Given the description of an element on the screen output the (x, y) to click on. 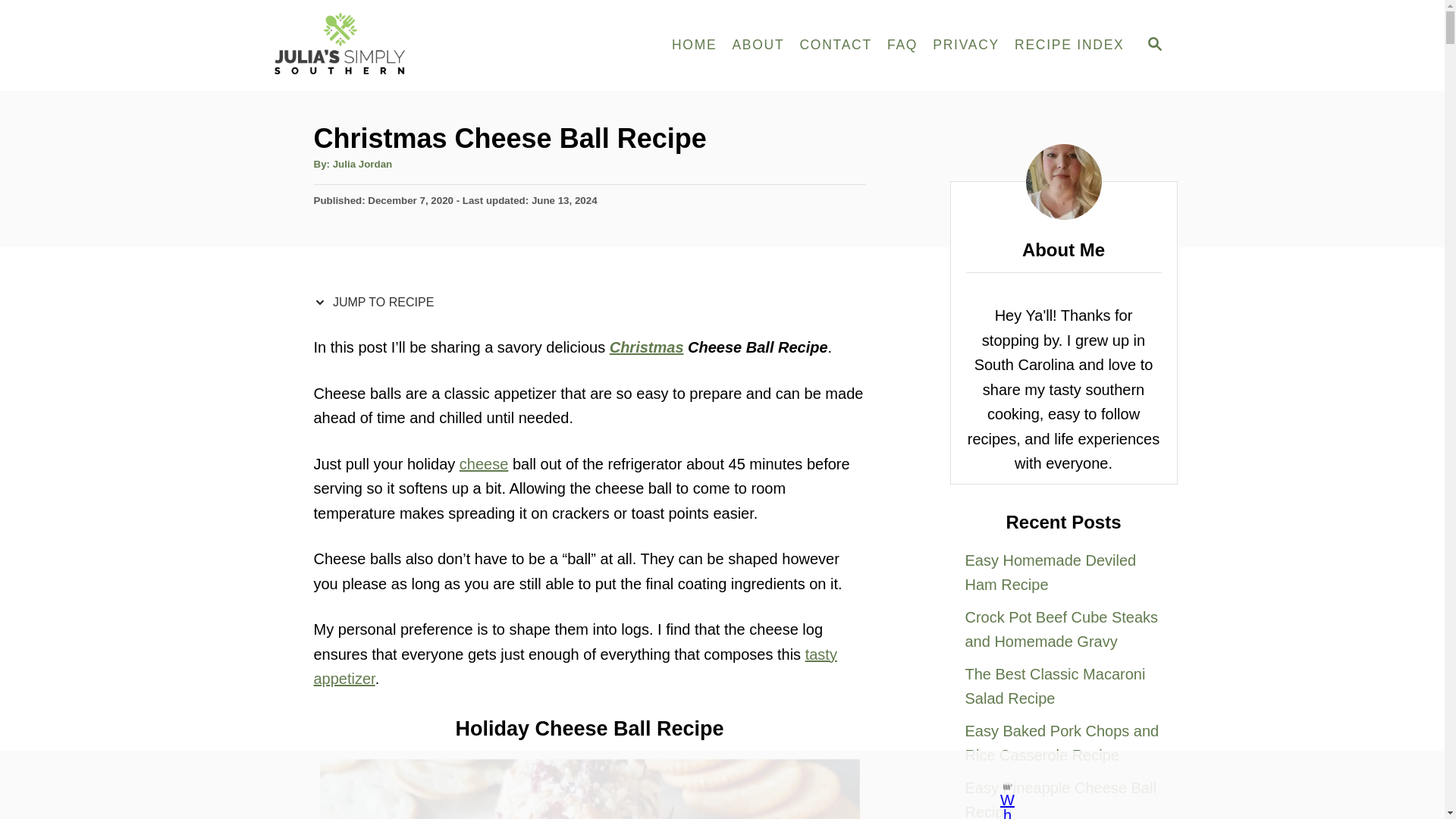
FAQ (901, 45)
SEARCH (1153, 45)
ABOUT (757, 45)
RECIPE INDEX (1069, 45)
cheese (484, 463)
HOME (694, 45)
Christmas (647, 347)
PRIVACY (965, 45)
CONTACT (835, 45)
JUMP TO RECIPE (378, 302)
Julia Jordan (363, 163)
Julias Simply Southern (403, 45)
